Given the description of an element on the screen output the (x, y) to click on. 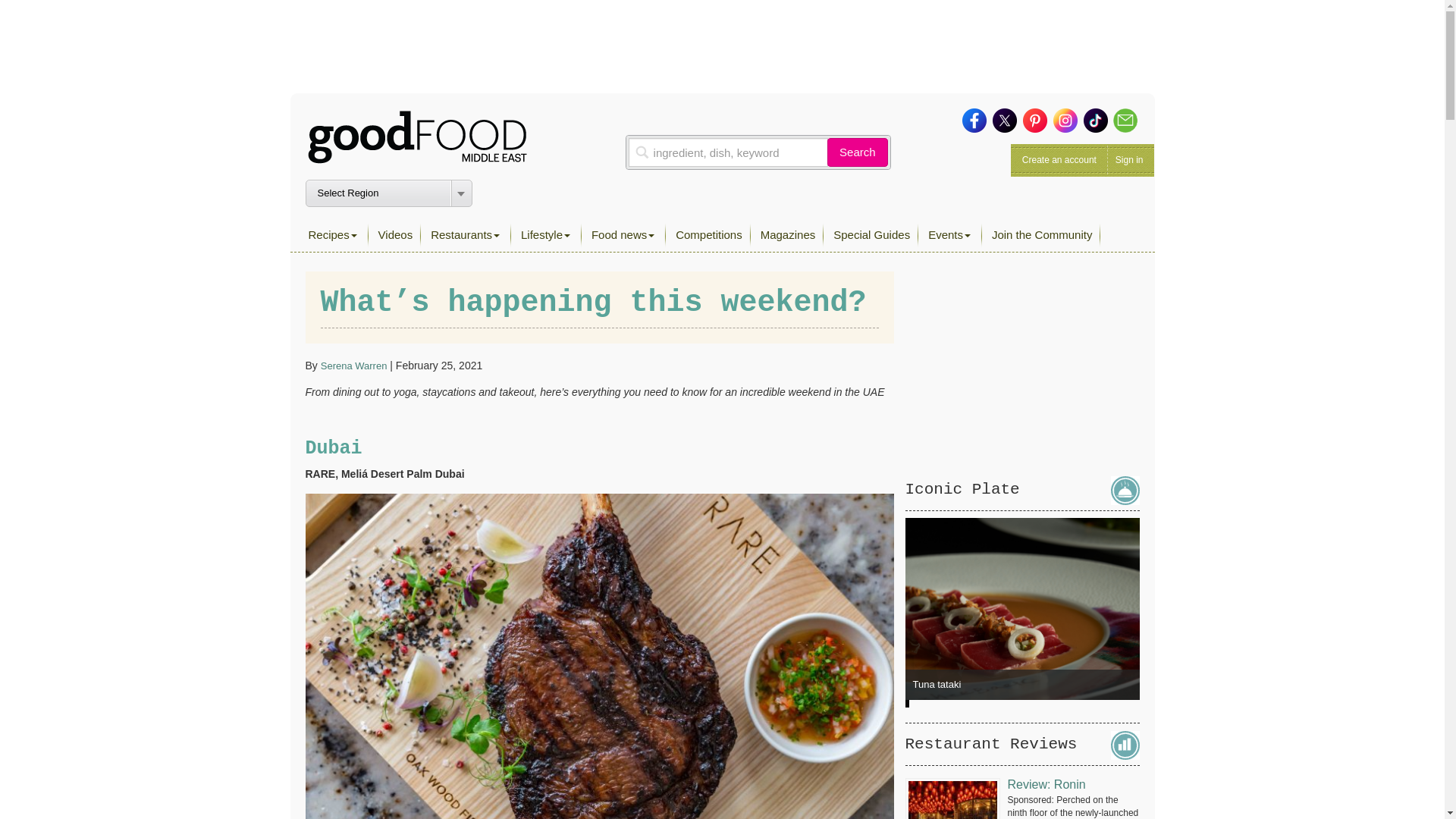
Select Region (387, 193)
Create an account (1058, 159)
3rd party ad content (721, 46)
3rd party ad content (1021, 366)
Select Region (387, 193)
Search (857, 152)
Sign in (1128, 159)
